Given the description of an element on the screen output the (x, y) to click on. 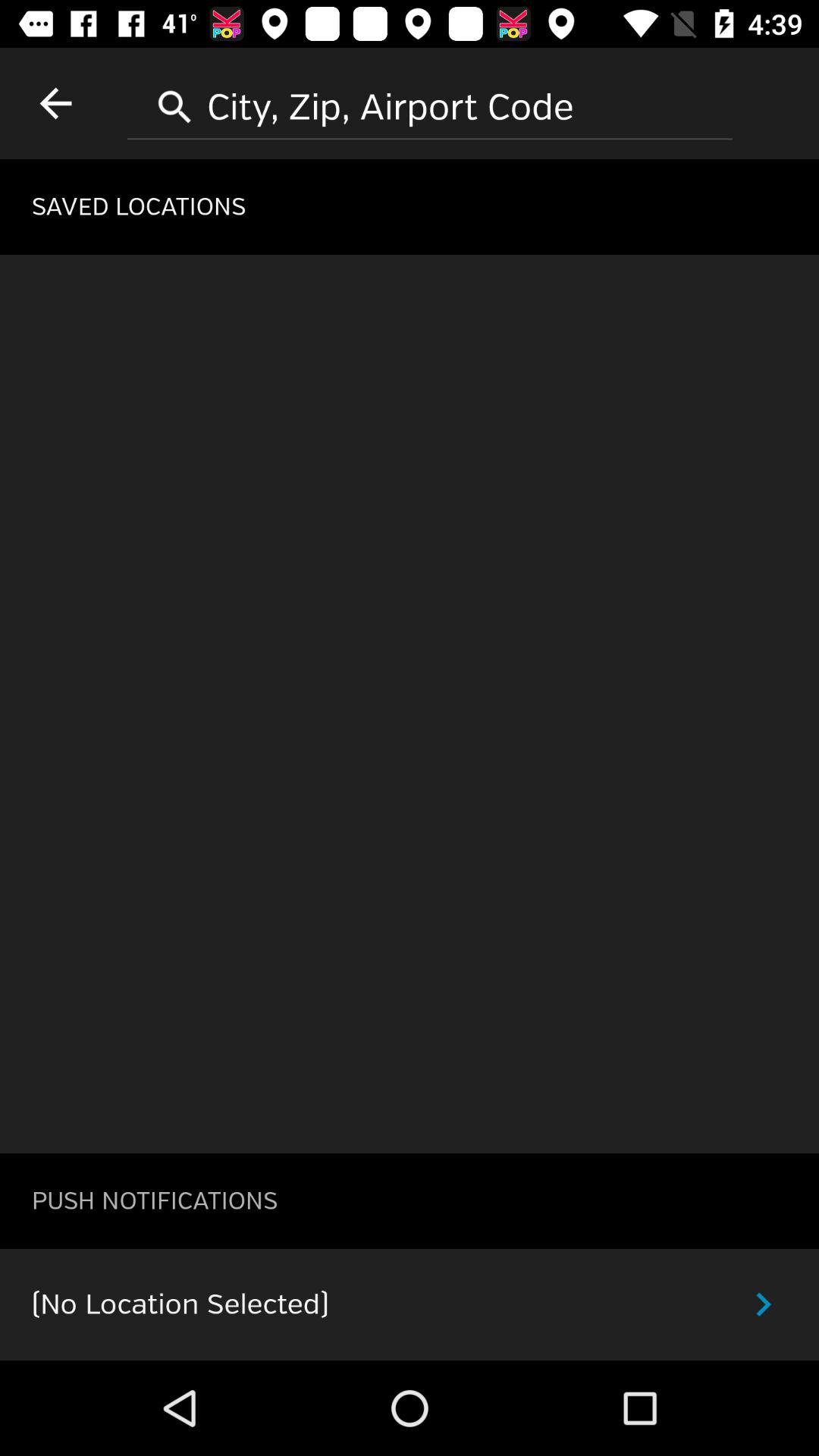
select the item below the saved locations icon (409, 703)
